Given the description of an element on the screen output the (x, y) to click on. 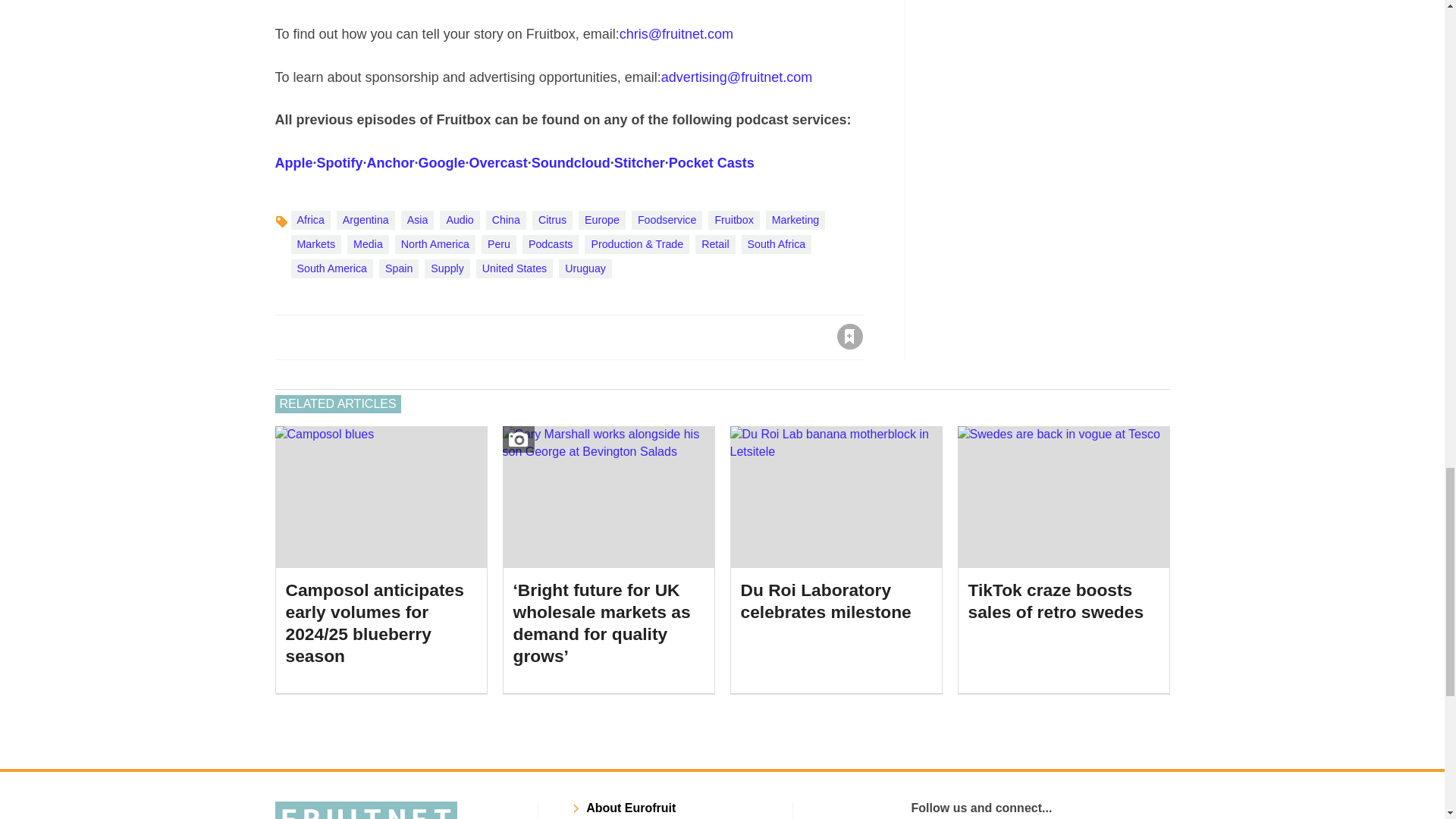
Email this article (386, 336)
Share this on Facebook (288, 336)
Share this on Twitter (320, 336)
Share this on Linked in (352, 336)
